Given the description of an element on the screen output the (x, y) to click on. 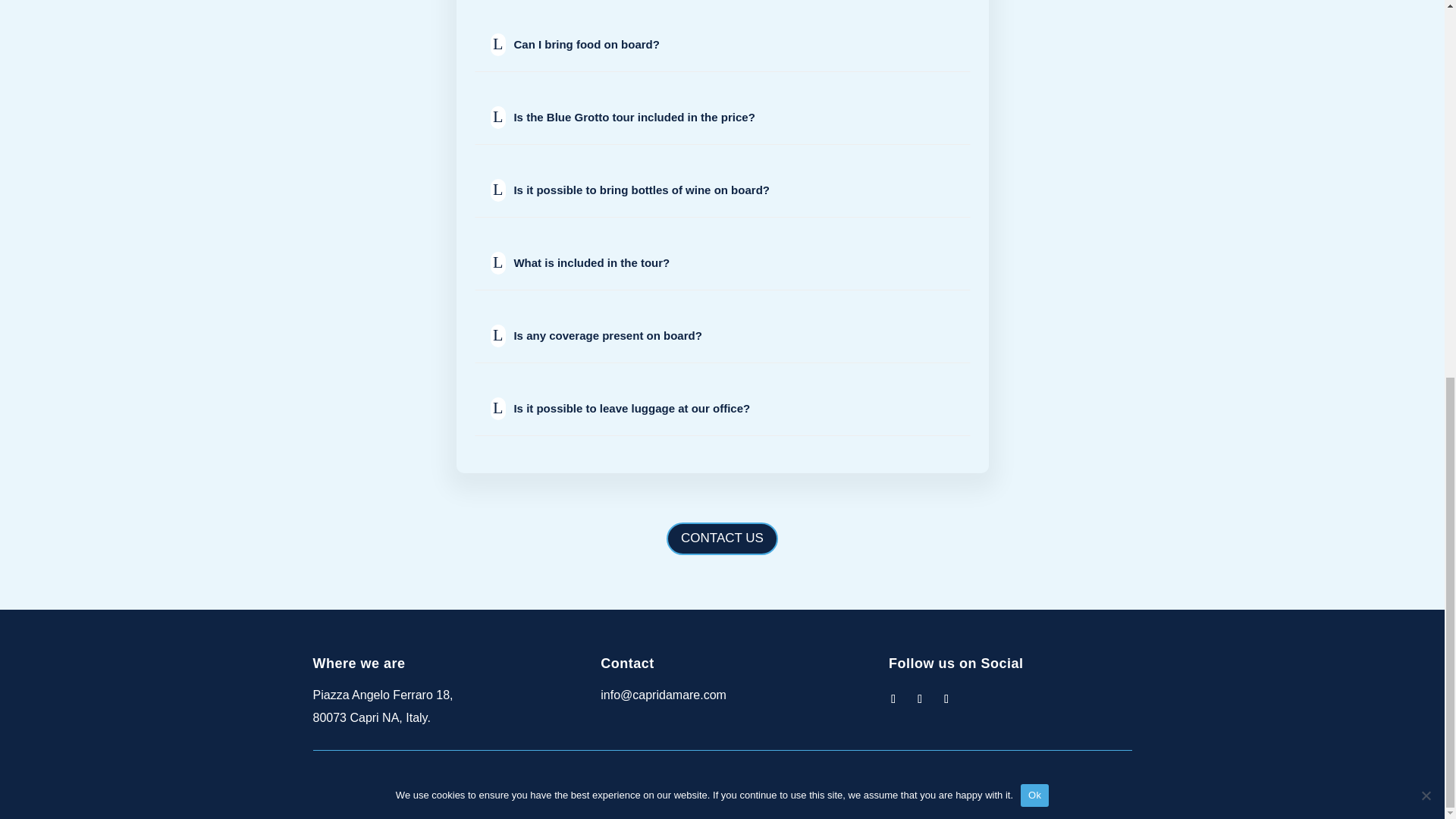
Follow on Instagram (892, 699)
Follow on WhatsApp (946, 699)
No (1425, 96)
Follow on Facebook (919, 699)
